Given the description of an element on the screen output the (x, y) to click on. 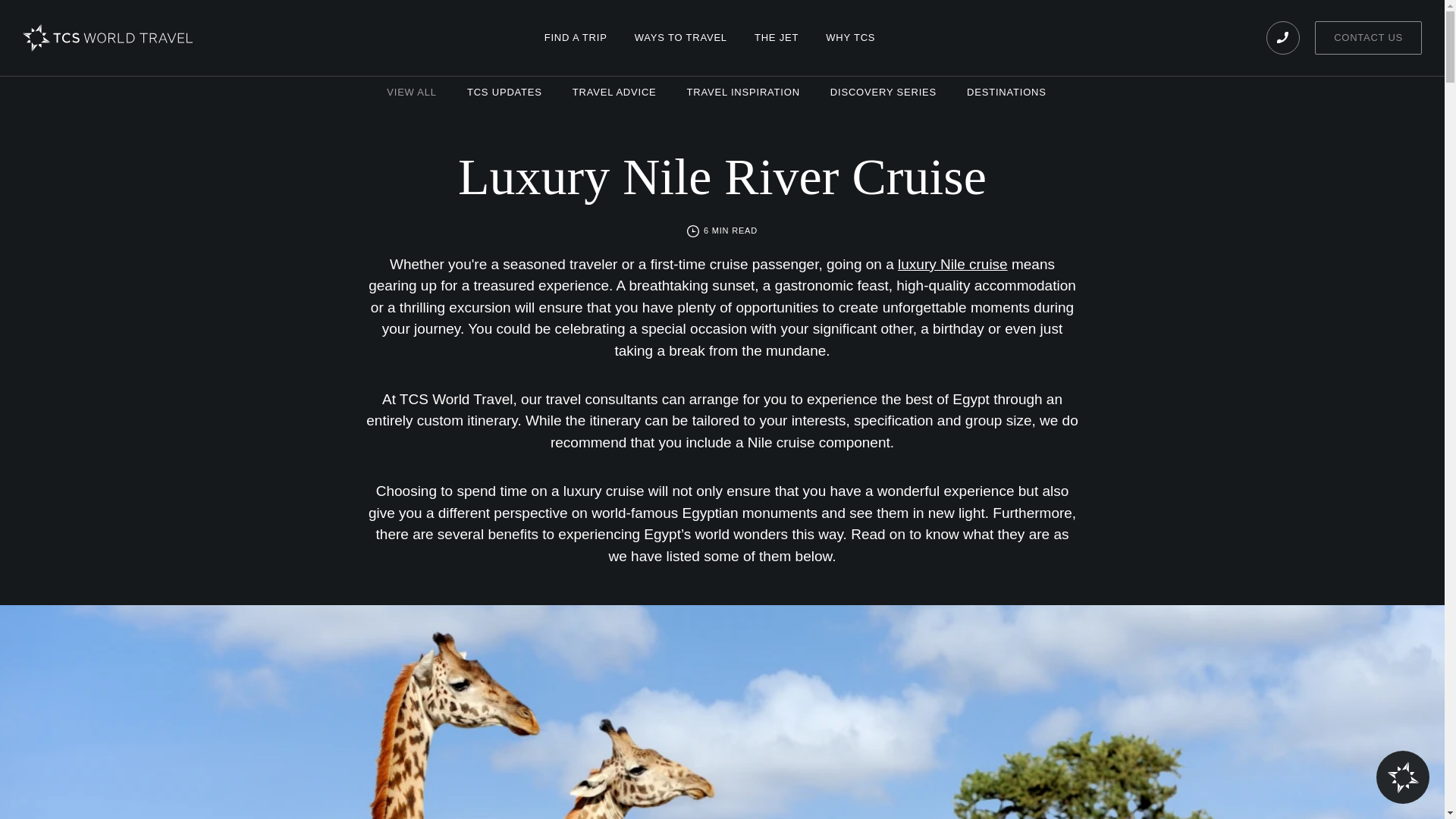
DISCOVERY SERIES (882, 92)
1-844-236-7749 (1283, 37)
TRAVEL ADVICE (614, 92)
VIEW ALL (405, 92)
WAYS TO TRAVEL (681, 38)
luxury Nile cruise (952, 263)
WHY TCS (850, 38)
TCS UPDATES (504, 92)
DESTINATIONS (1012, 92)
TRAVEL INSPIRATION (743, 92)
FIND A TRIP (576, 38)
THE JET (776, 38)
CONTACT US (1368, 37)
